Given the description of an element on the screen output the (x, y) to click on. 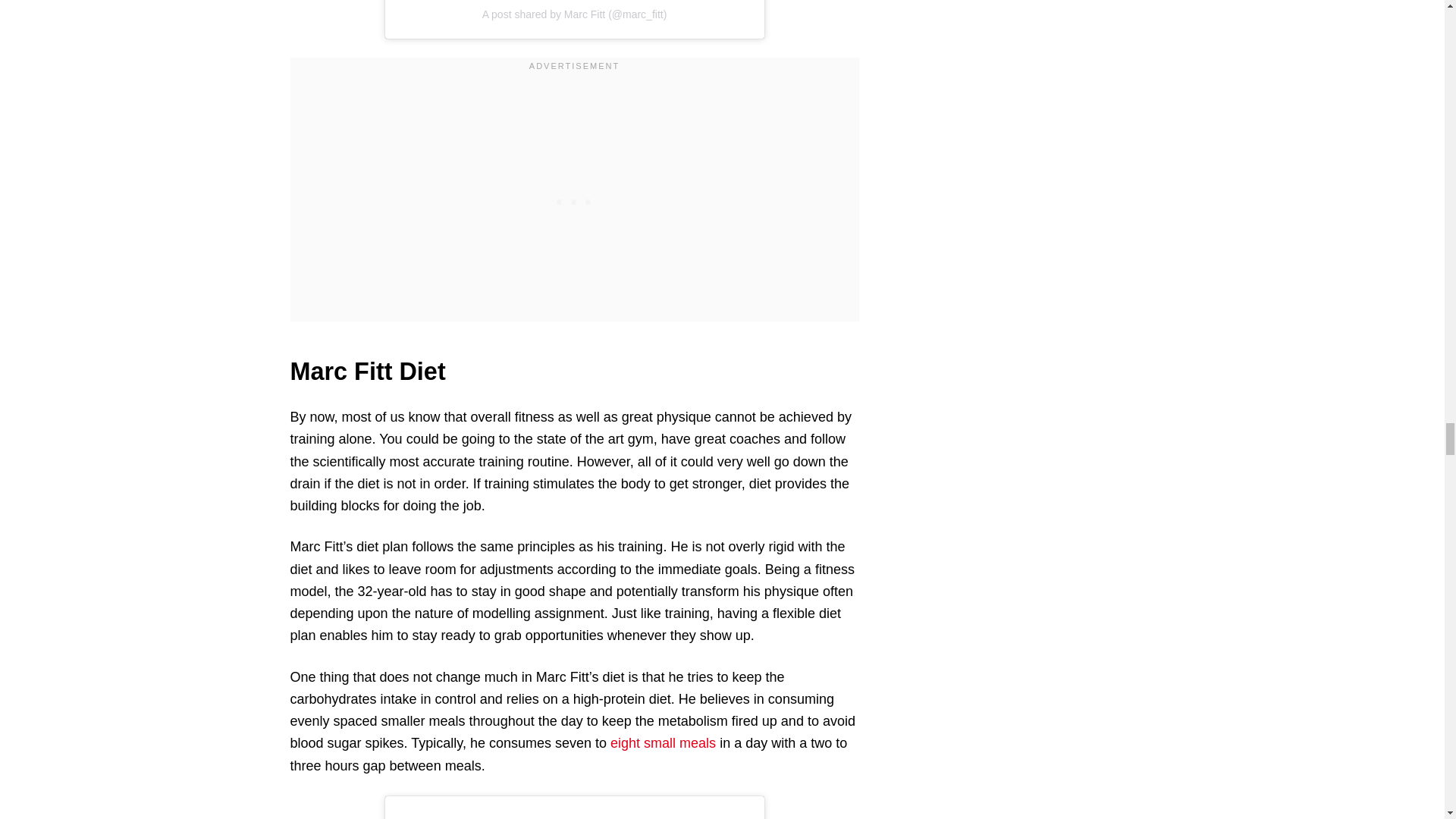
Intermittent Fasting vs. Small Meals: Which is Better? (663, 743)
